Given the description of an element on the screen output the (x, y) to click on. 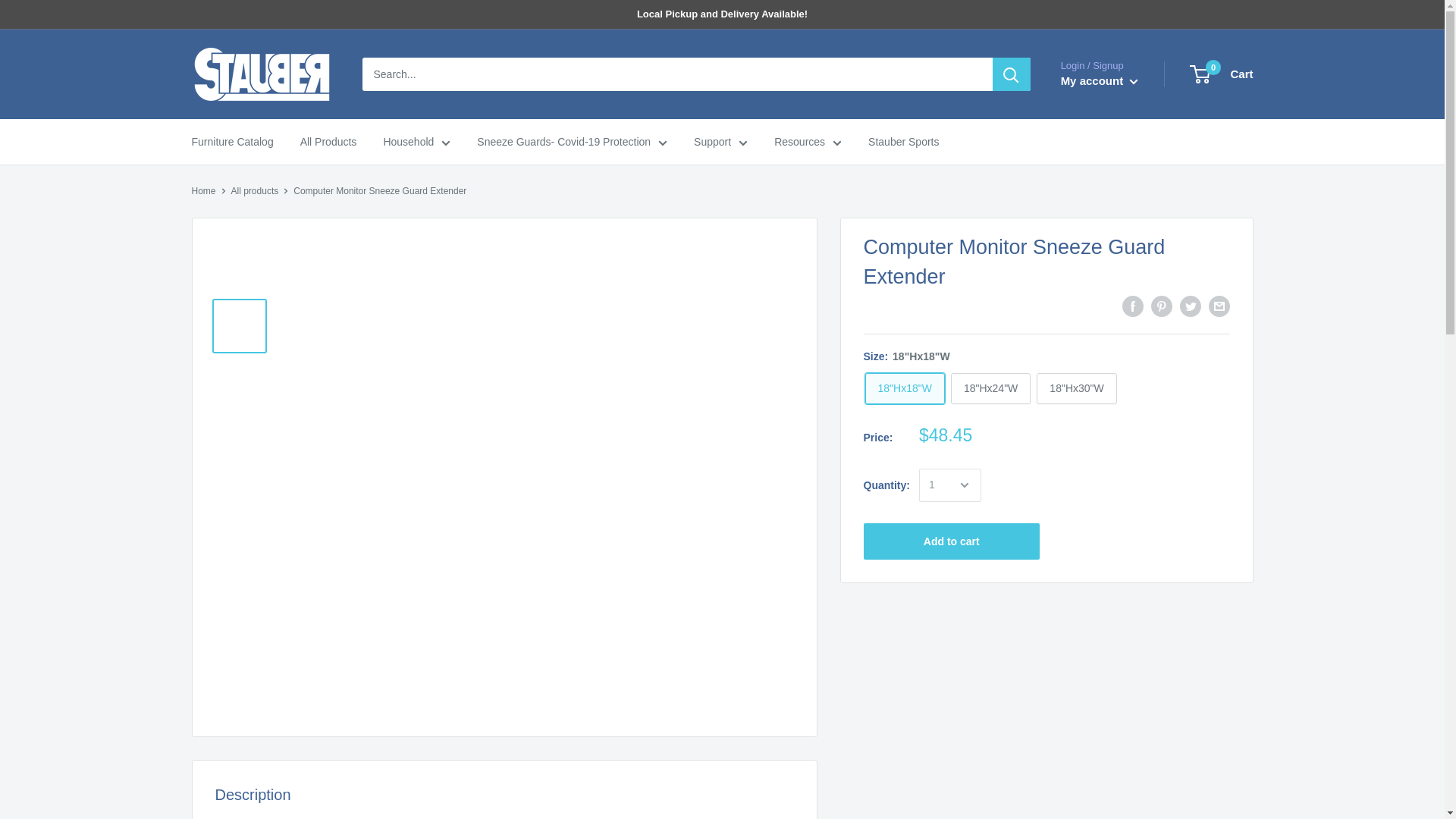
18"Hx18"W (903, 388)
18"Hx30"W (1076, 388)
18"Hx24"W (990, 388)
